Given the description of an element on the screen output the (x, y) to click on. 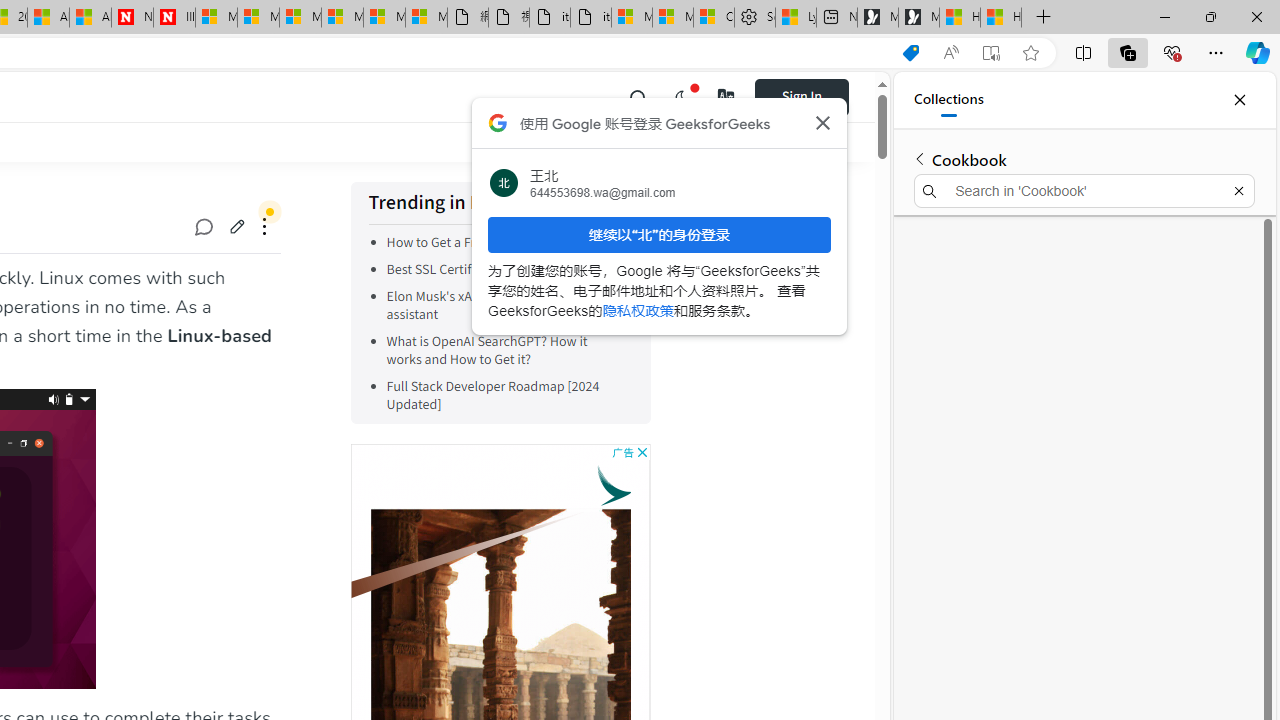
Microsoft Services Agreement (258, 17)
Best SSL Certificates Provider in India (505, 269)
AutomationID: cbb (641, 452)
Best SSL Certificates Provider in India (495, 269)
Full Stack Developer Roadmap [2024 Updated] (505, 395)
